Given the description of an element on the screen output the (x, y) to click on. 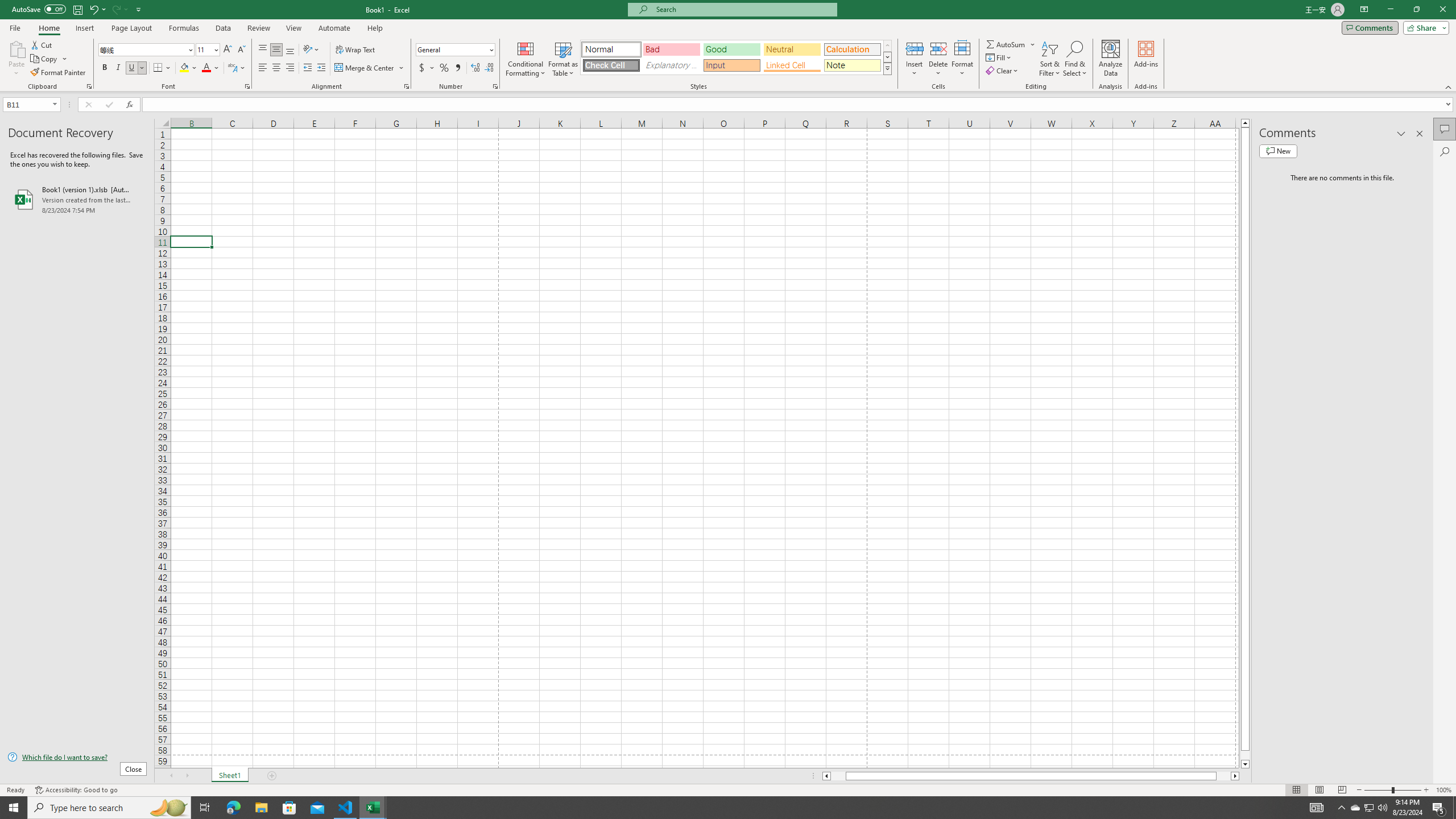
Font Size (207, 49)
Copy (45, 58)
New comment (1278, 151)
Fill Color RGB(255, 255, 0) (183, 67)
Font Color RGB(255, 0, 0) (206, 67)
Merge & Center (365, 67)
Format Painter (58, 72)
Wrap Text (355, 49)
